Given the description of an element on the screen output the (x, y) to click on. 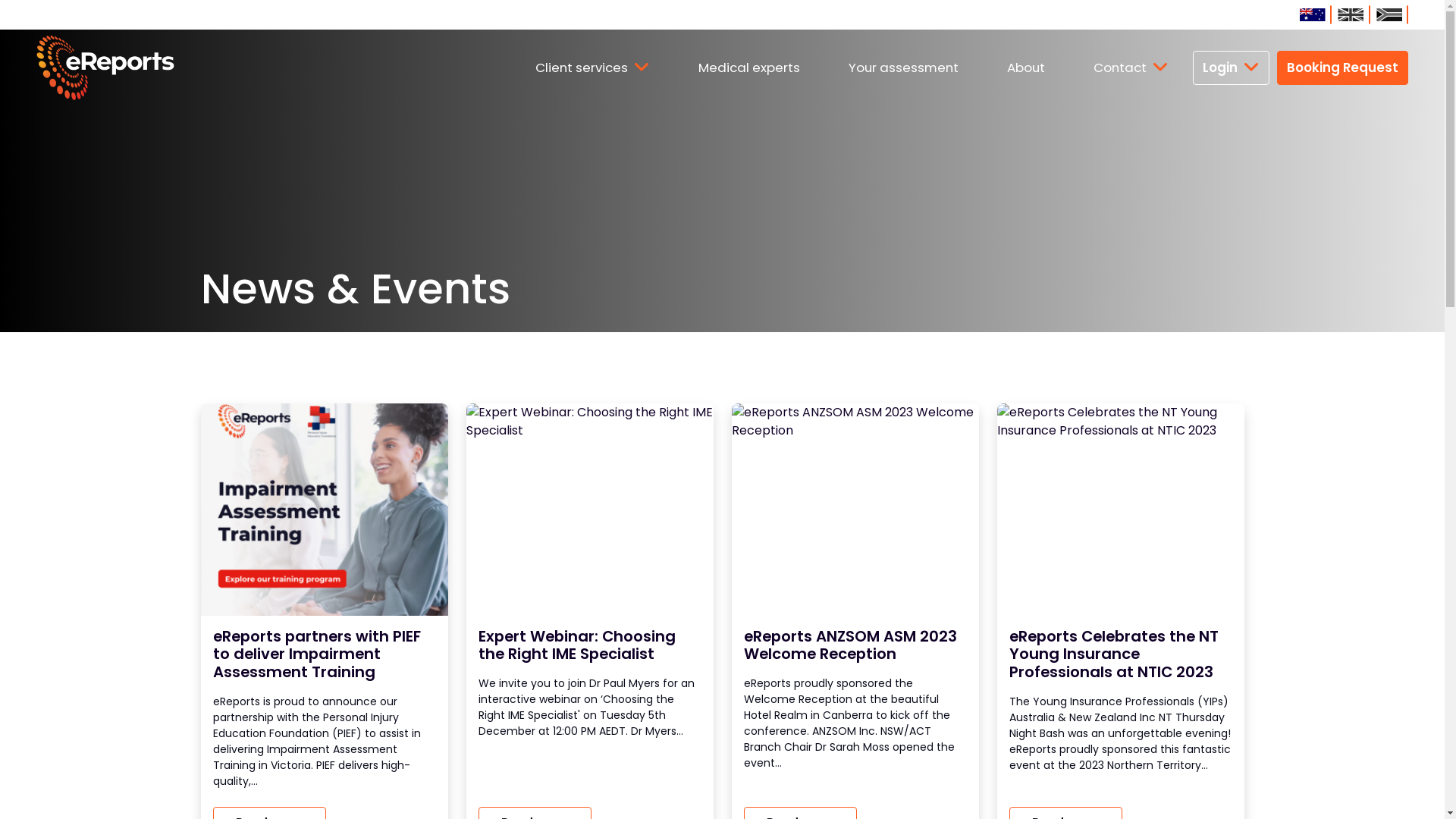
Australia Element type: hover (1311, 14)
Login Element type: text (1230, 67)
Contact Element type: text (1130, 67)
About Element type: text (1025, 67)
Booking Request Element type: text (1342, 67)
Medical experts Element type: text (749, 67)
Client services Element type: text (592, 67)
Your assessment Element type: text (903, 67)
